Given the description of an element on the screen output the (x, y) to click on. 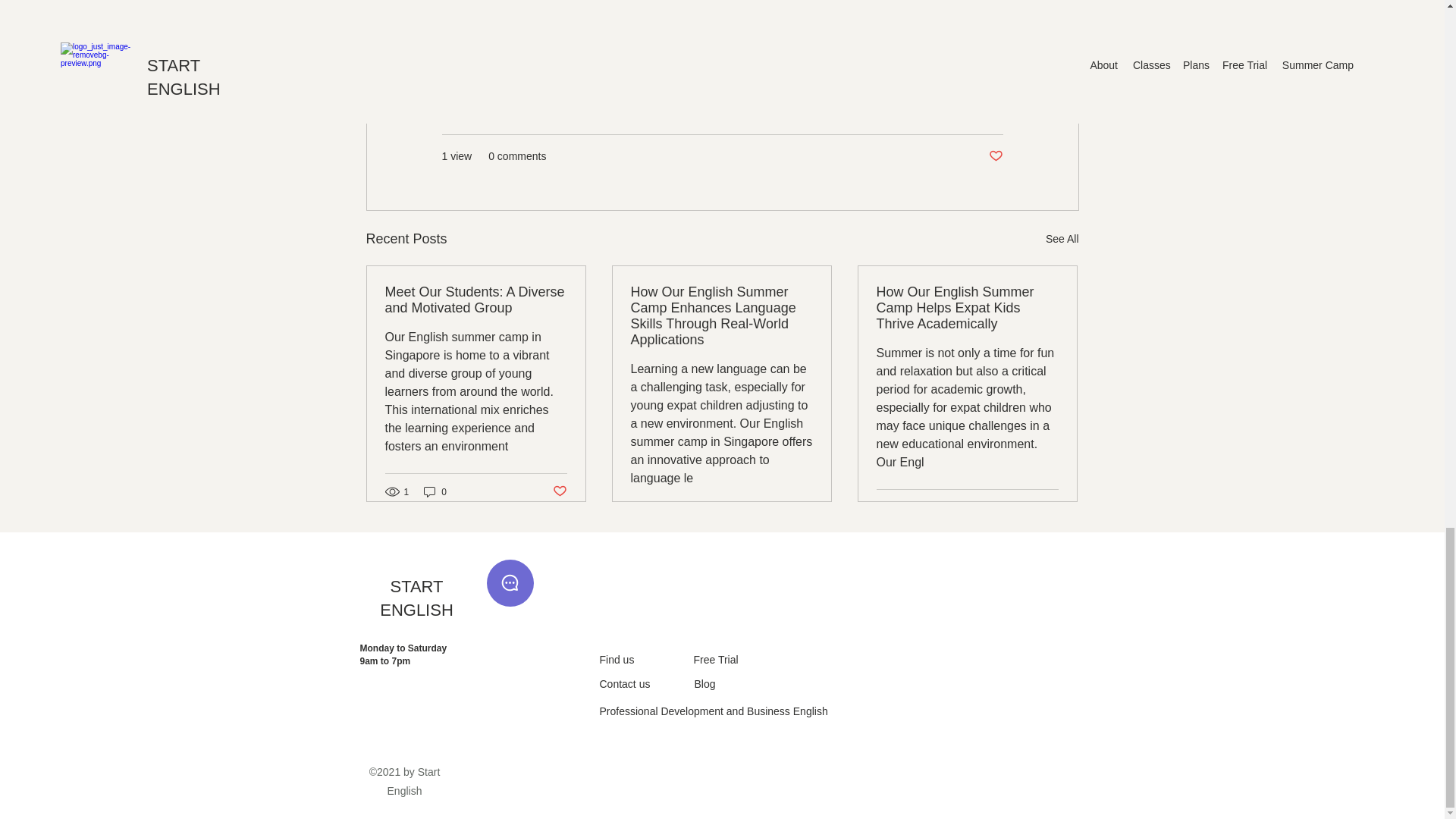
0 (435, 491)
START ENGLISH (416, 598)
Professional Development and Business English (712, 711)
Find us (615, 659)
Post not marked as liked (558, 491)
Post not marked as liked (995, 156)
Meet Our Students: A Diverse and Motivated Group (476, 300)
Contact us (623, 684)
Free Trial (715, 659)
See All (1061, 239)
Post not marked as liked (1050, 507)
Blog (705, 684)
